Given the description of an element on the screen output the (x, y) to click on. 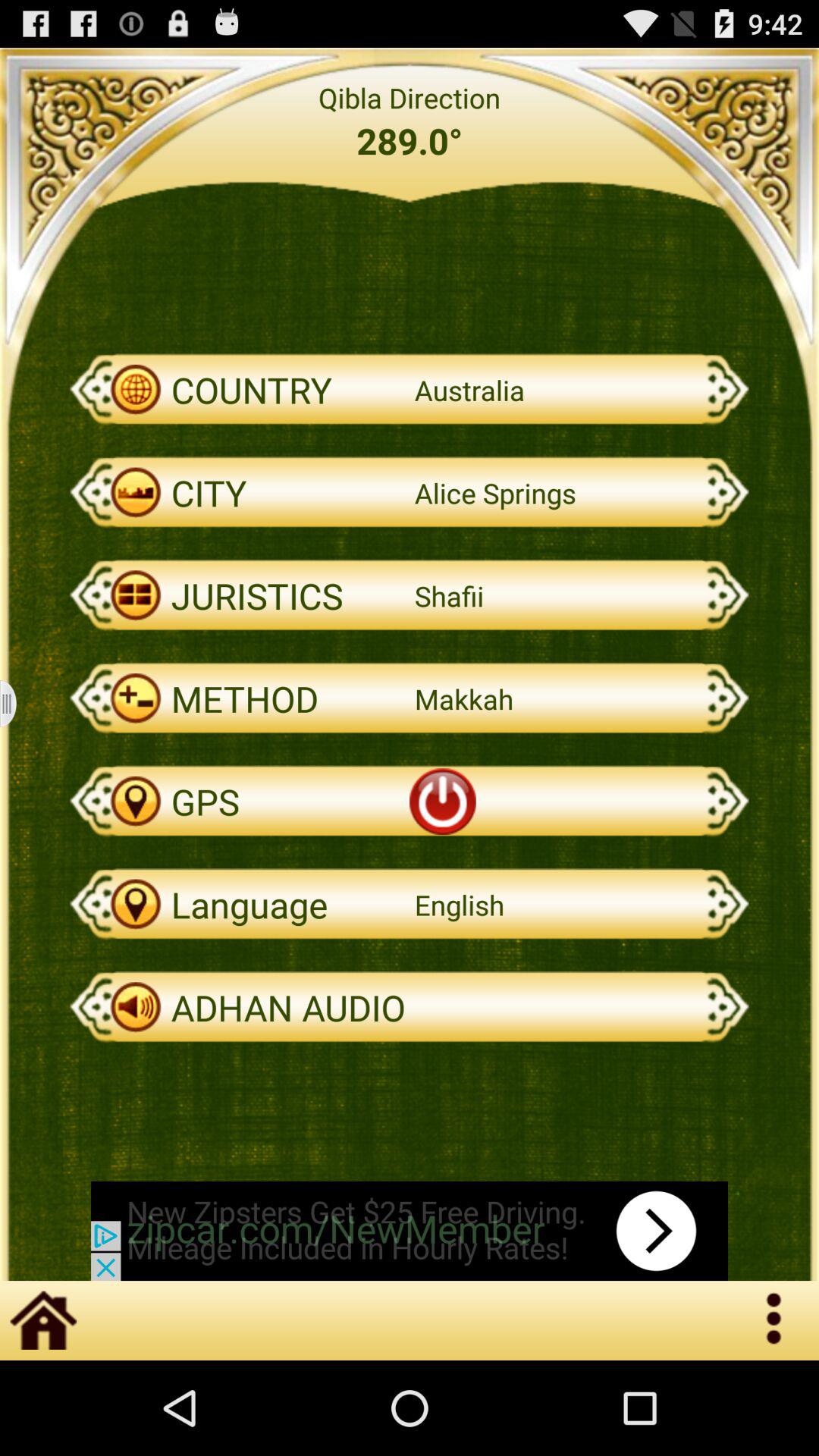
go back (18, 703)
